Given the description of an element on the screen output the (x, y) to click on. 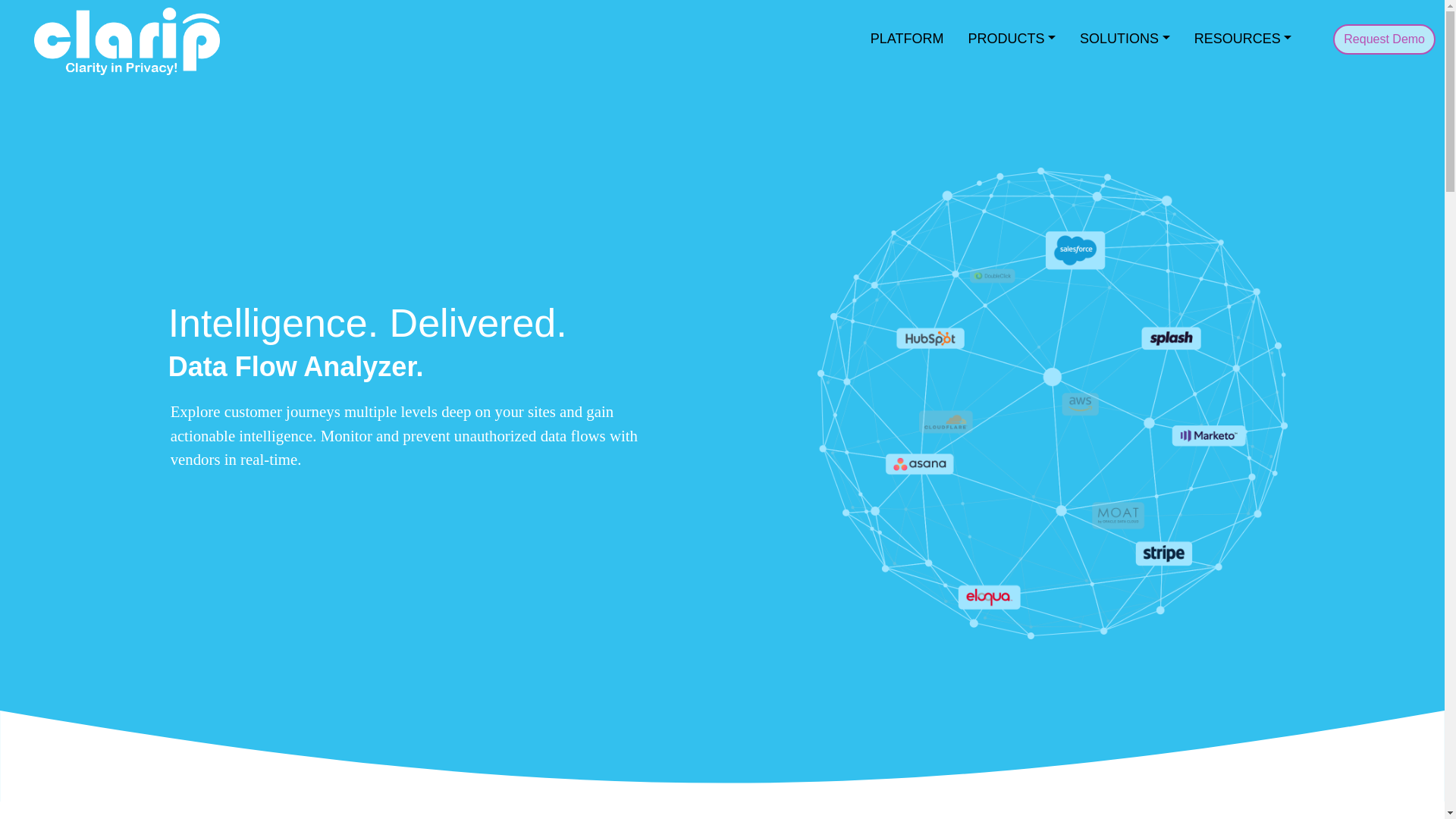
PRODUCTS (1010, 38)
SOLUTIONS (1125, 38)
PLATFORM (907, 38)
